Given the description of an element on the screen output the (x, y) to click on. 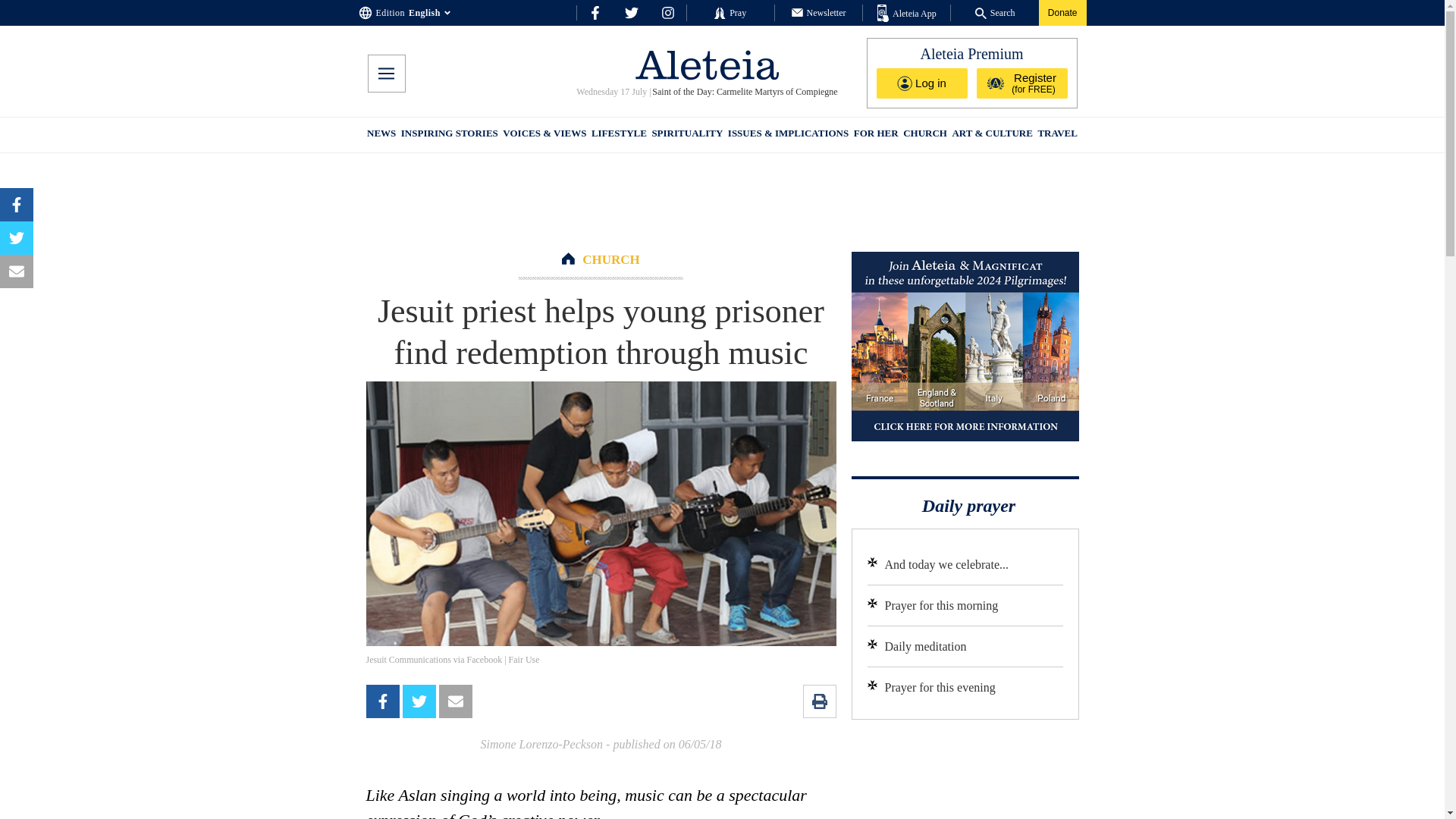
social-fb-top-row (595, 12)
FOR HER (875, 134)
social-ig-top-row (668, 12)
mobile-menu-btn (385, 73)
Aleteia App (906, 13)
CHURCH (611, 259)
LIFESTYLE (618, 134)
Pray (729, 12)
Simone Lorenzo-Peckson (541, 744)
INSPIRING STORIES (449, 134)
TRAVEL (1056, 134)
Donate (1062, 12)
Newsletter (818, 12)
SPIRITUALITY (686, 134)
Search (994, 12)
